Given the description of an element on the screen output the (x, y) to click on. 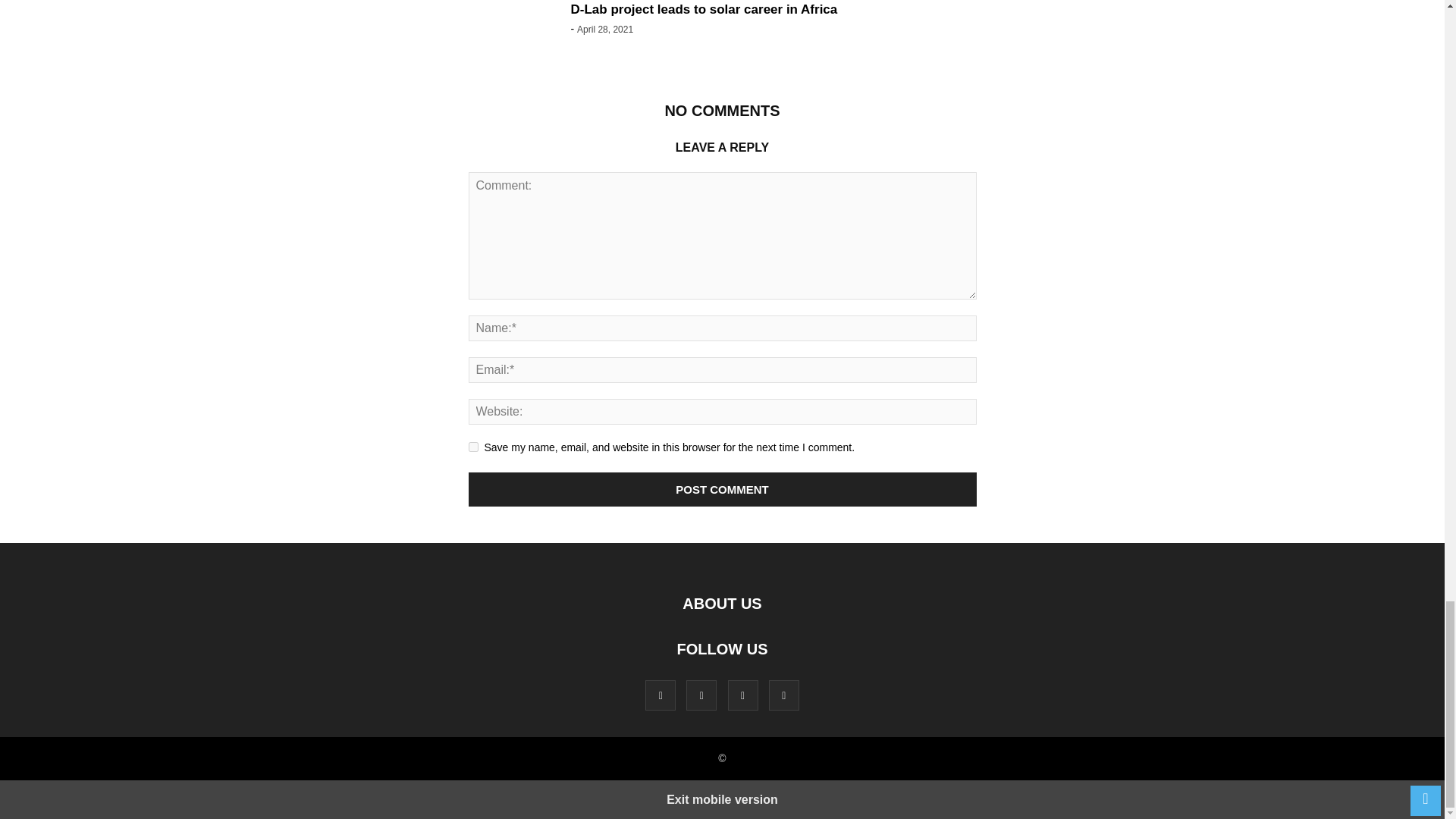
D-Lab project leads to solar career in Africa (703, 9)
Post Comment (722, 489)
Post Comment (722, 489)
yes (473, 447)
